Given the description of an element on the screen output the (x, y) to click on. 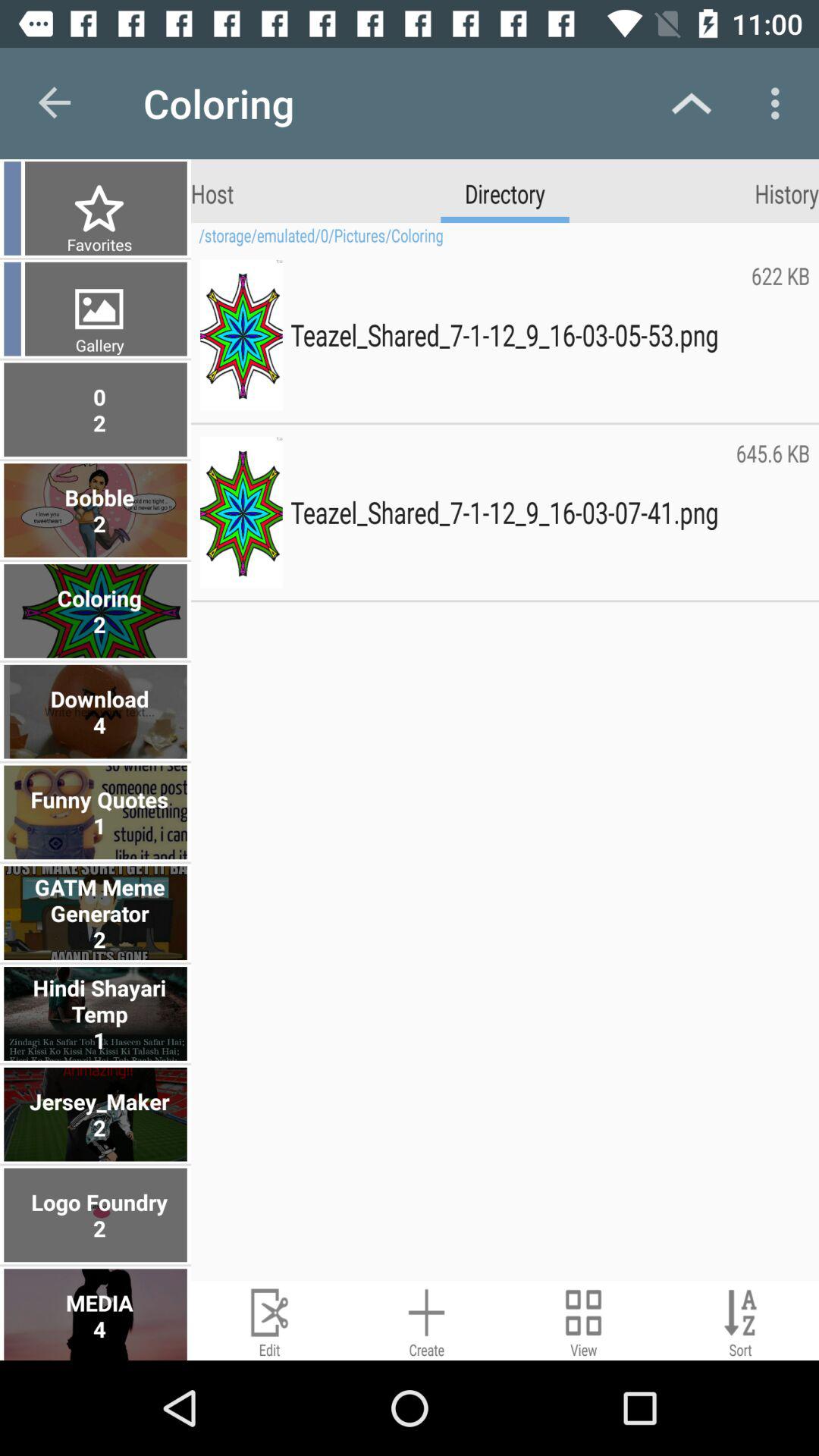
edit button (269, 1320)
